Given the description of an element on the screen output the (x, y) to click on. 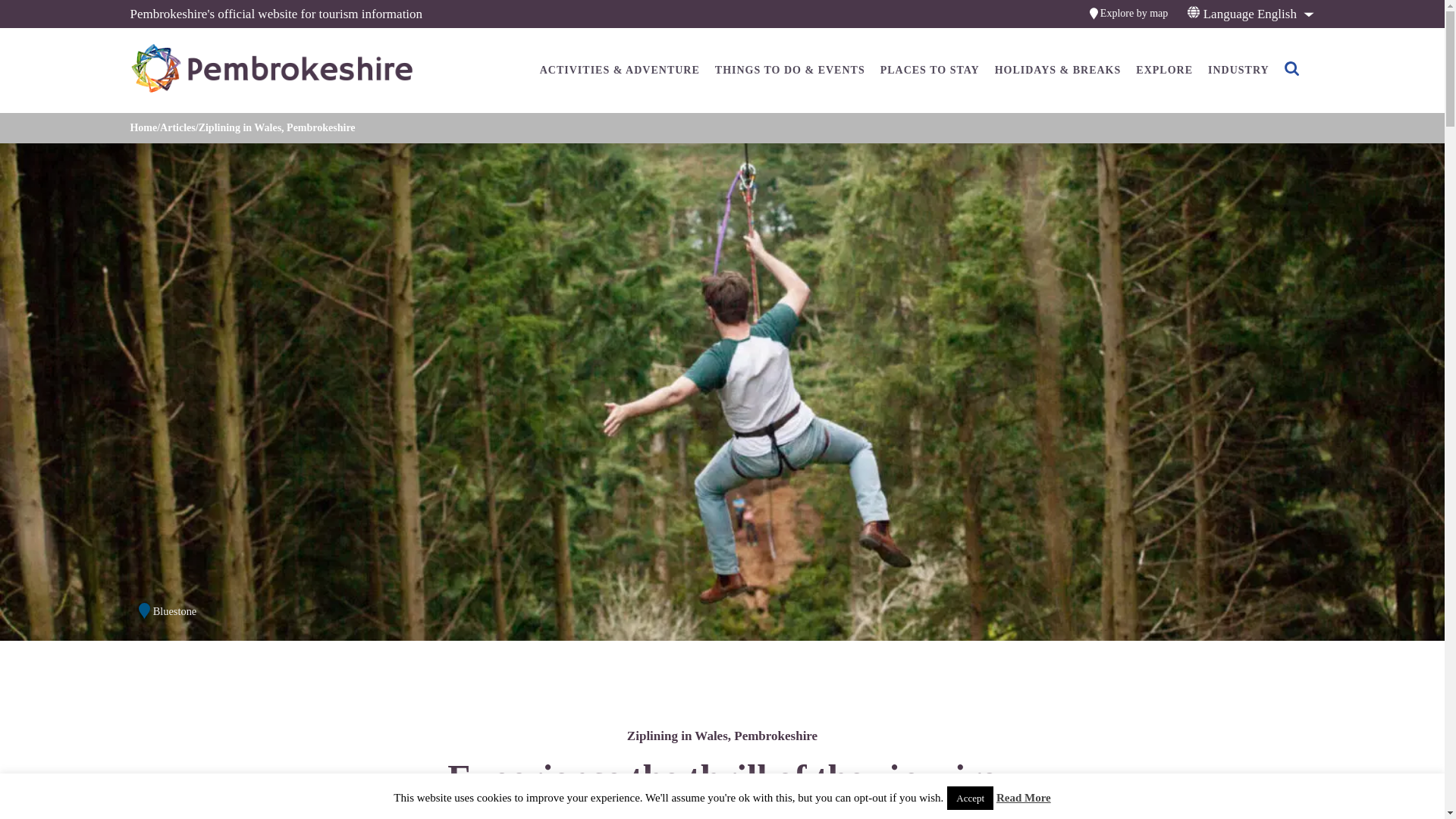
Visit Pembrokeshire (231, 70)
Explore by map (1133, 13)
Skip to content (17, 15)
